Given the description of an element on the screen output the (x, y) to click on. 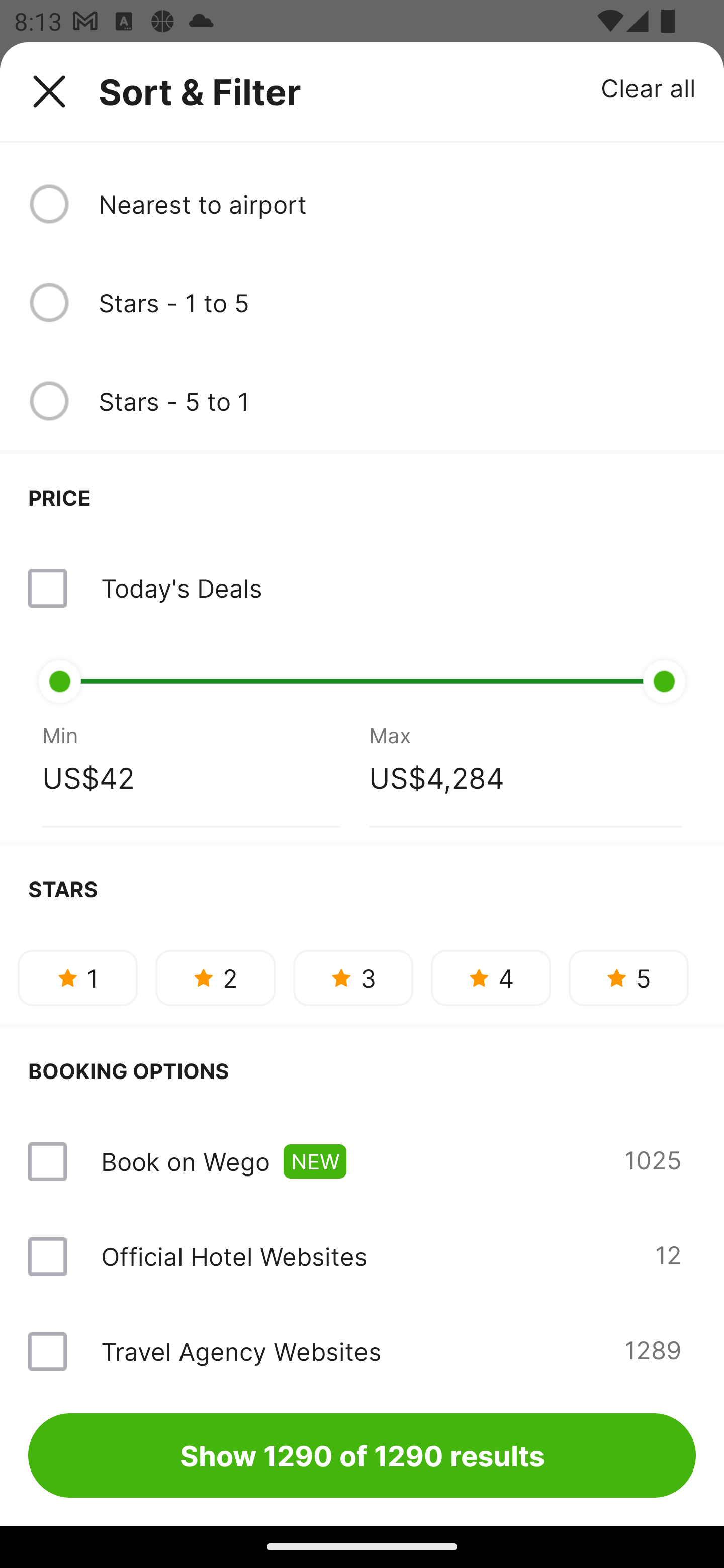
Clear all (648, 87)
Nearest to airport (396, 203)
Stars - 1 to 5 (396, 302)
Stars - 5 to 1 (396, 401)
Today's Deals (362, 587)
Today's Deals (181, 587)
1 (77, 978)
2 (214, 978)
3 (352, 978)
4 (491, 978)
5 (627, 978)
Book on Wego NEW 1025 (362, 1161)
Book on Wego (184, 1161)
Official Hotel Websites 12 (362, 1256)
Official Hotel Websites (233, 1255)
Travel Agency Websites 1289 (362, 1344)
Travel Agency Websites (240, 1351)
Show 1290 of 1290 results (361, 1454)
